Given the description of an element on the screen output the (x, y) to click on. 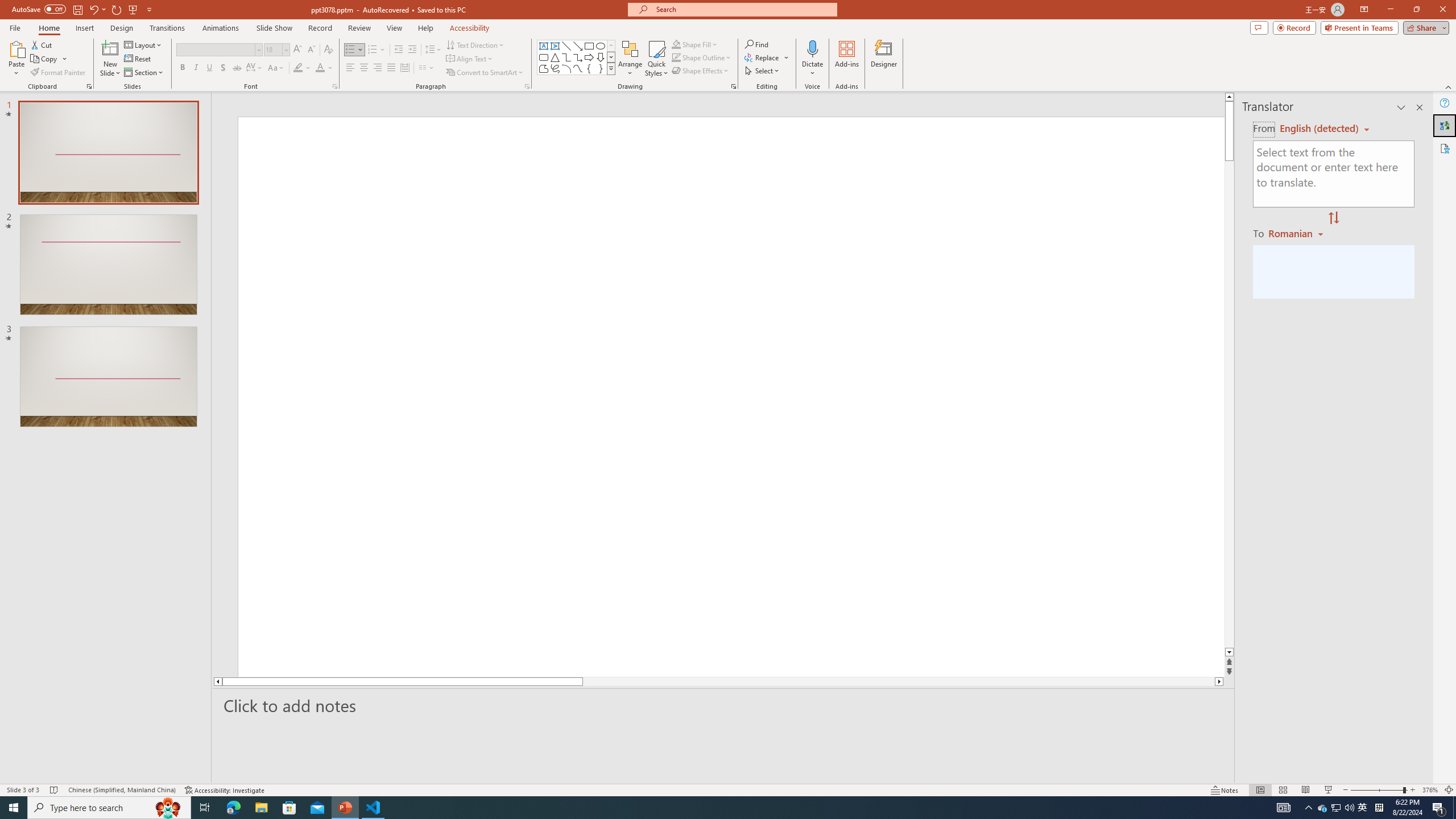
Czech (detected) (1319, 128)
